Given the description of an element on the screen output the (x, y) to click on. 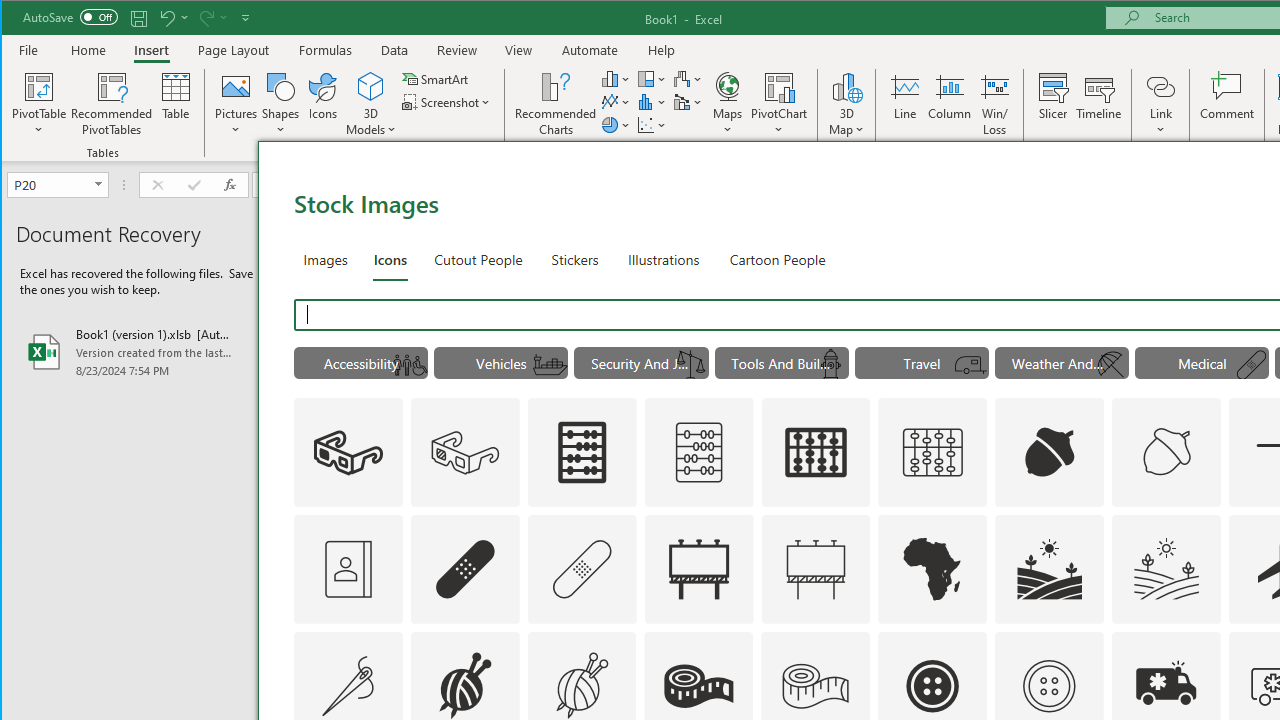
"Security And Justice" Icons. (641, 362)
AutomationID: Icons_AdhesiveBandage_M (582, 568)
PivotChart (779, 86)
Timeline (1098, 104)
Column (949, 104)
Illustrations (663, 258)
3D Map (846, 104)
Insert Pie or Doughnut Chart (616, 124)
Insert Waterfall, Funnel, Stock, Surface, or Radar Chart (688, 78)
Cartoon People (778, 258)
AutomationID: Icons_Acorn_M (1167, 452)
